Given the description of an element on the screen output the (x, y) to click on. 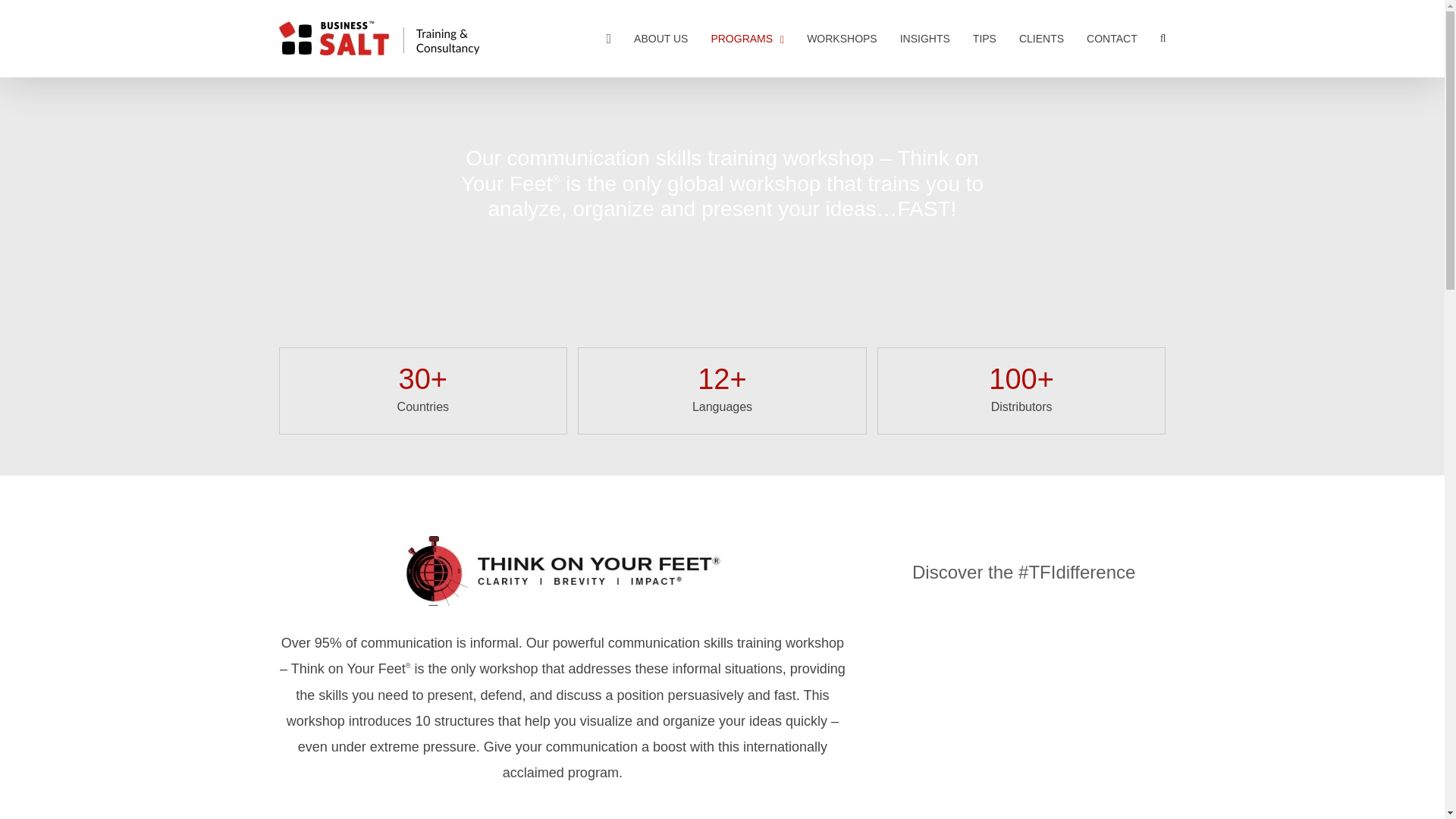
YouTube video player (1024, 692)
WORKSHOPS (841, 38)
PROGRAMS (747, 38)
think-on-your-feet-logo (562, 571)
